Given the description of an element on the screen output the (x, y) to click on. 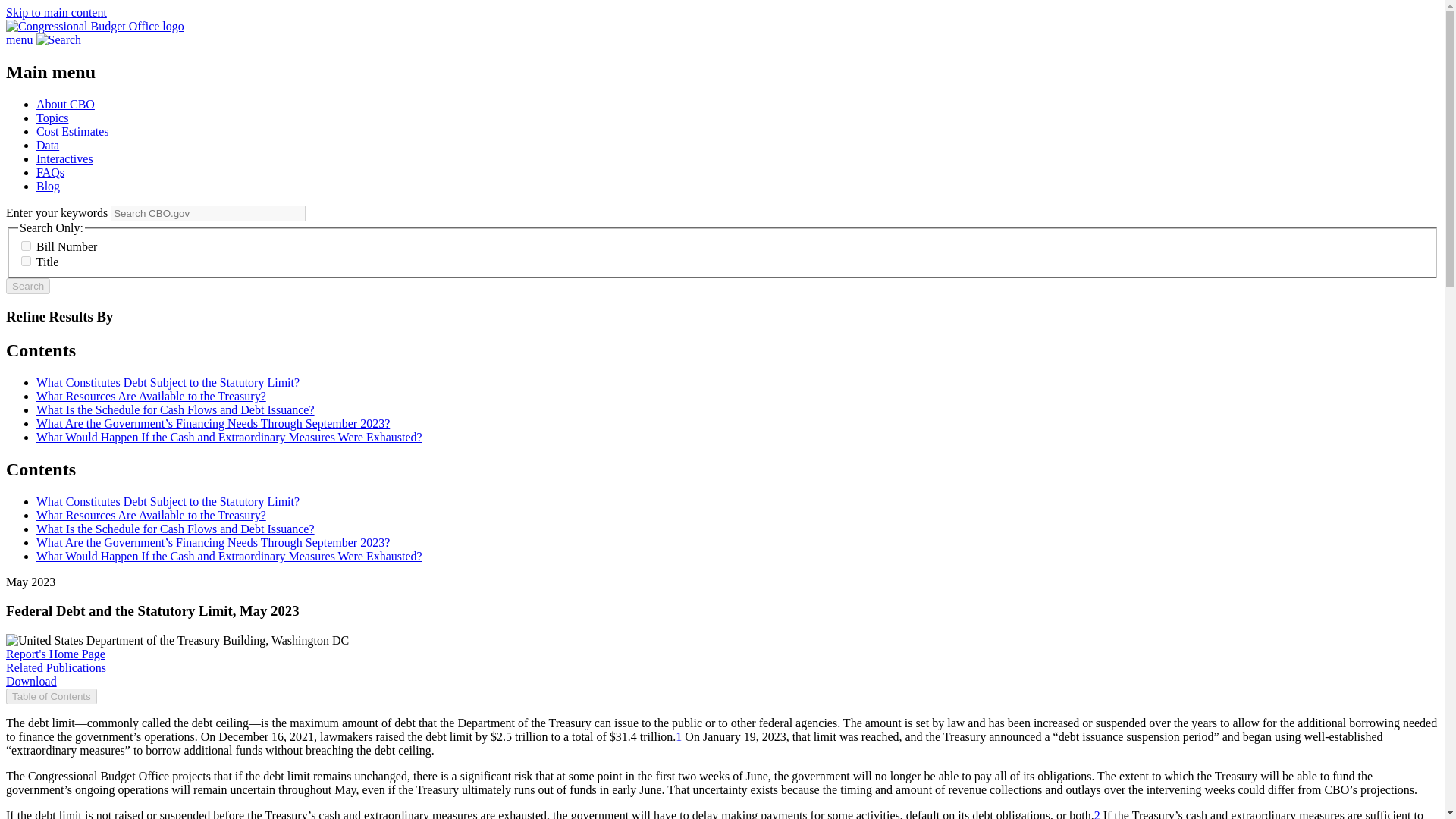
FAQs (50, 172)
Related Publications (55, 667)
Skip to main content (55, 11)
What Resources Are Available to the Treasury? (151, 514)
Search (27, 286)
Data (47, 144)
Interactives (64, 158)
What Is the Schedule for Cash Flows and Debt Issuance? (175, 409)
What Constitutes Debt Subject to the Statutory Limit? (167, 501)
Blog (47, 185)
